Given the description of an element on the screen output the (x, y) to click on. 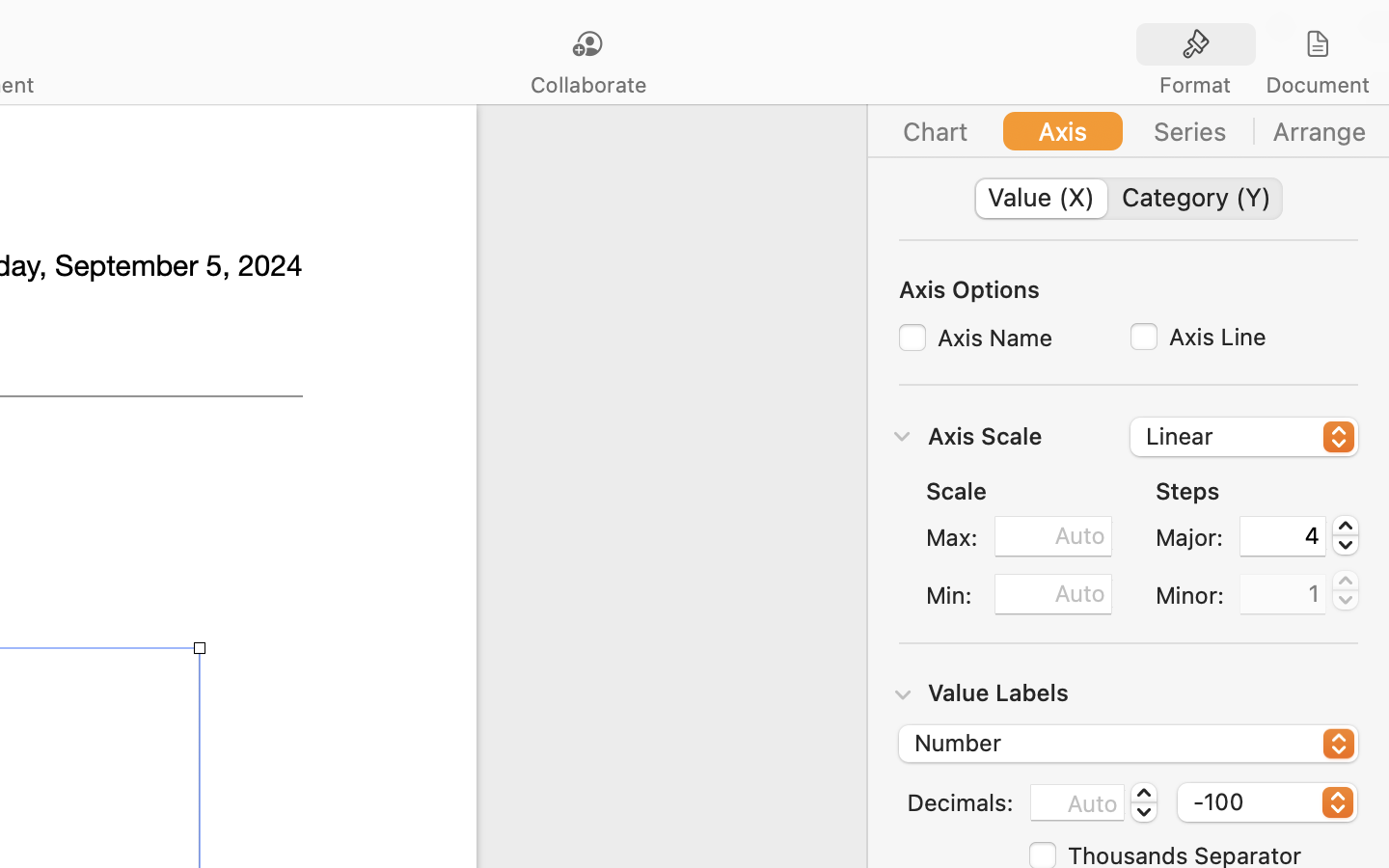
4 Element type: AXTextField (1282, 536)
<AXUIElement 0x17cd7c730> {pid=1482} Element type: AXRadioGroup (1128, 198)
4.0 Element type: AXIncrementor (1345, 535)
